Given the description of an element on the screen output the (x, y) to click on. 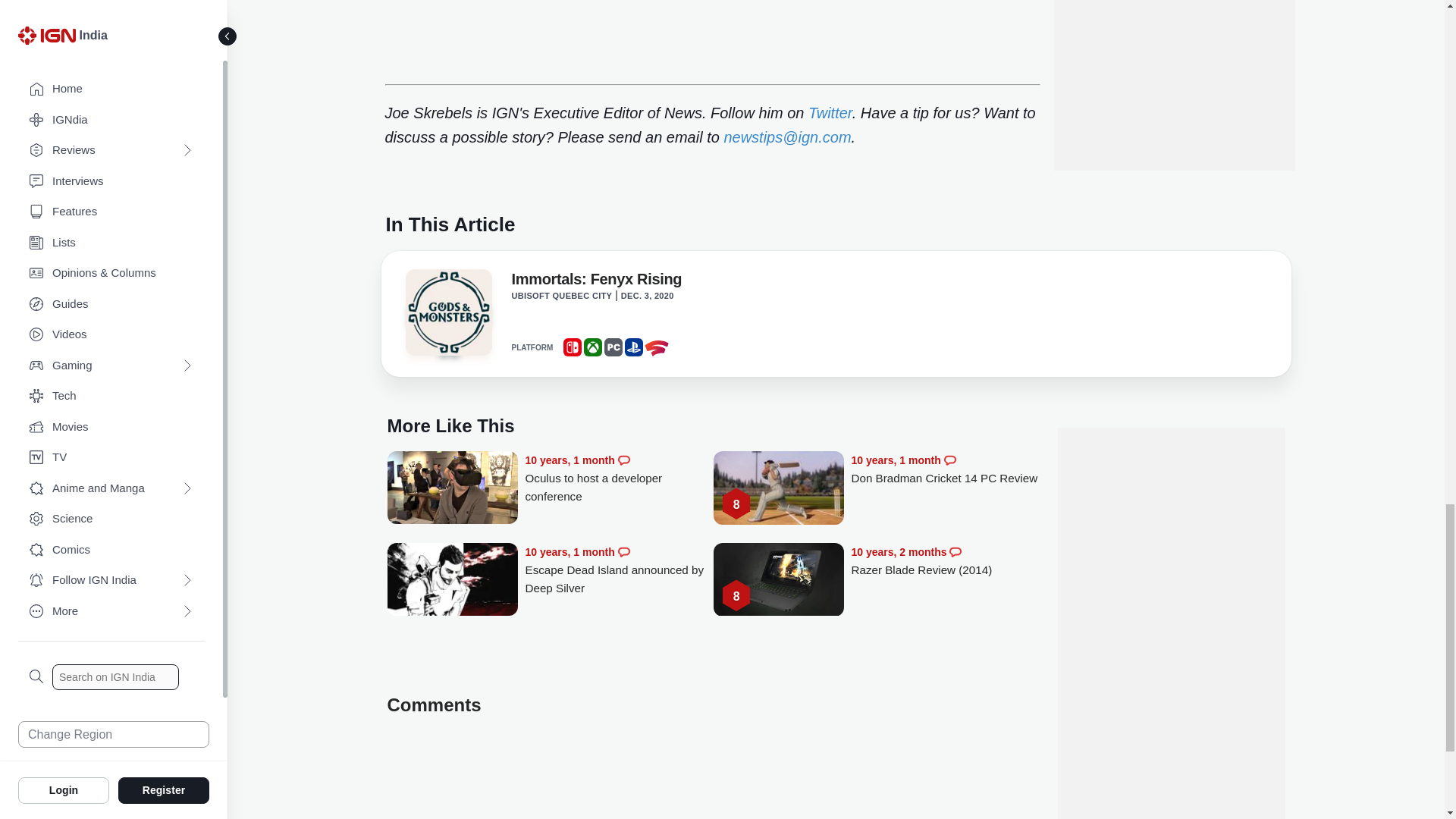
Oculus to host a developer conference (451, 489)
Don Bradman Cricket 14 PC Review (778, 489)
Oculus to host a developer conference (618, 478)
Immortals: Fenyx Rising (596, 282)
Escape Dead Island announced by Deep Silver (618, 570)
Immortals: Fenyx Rising (448, 316)
Don Bradman Cricket 14 PC Review (944, 469)
Immortals: Fenyx Rising (448, 312)
Escape Dead Island announced by Deep Silver (451, 580)
